Given the description of an element on the screen output the (x, y) to click on. 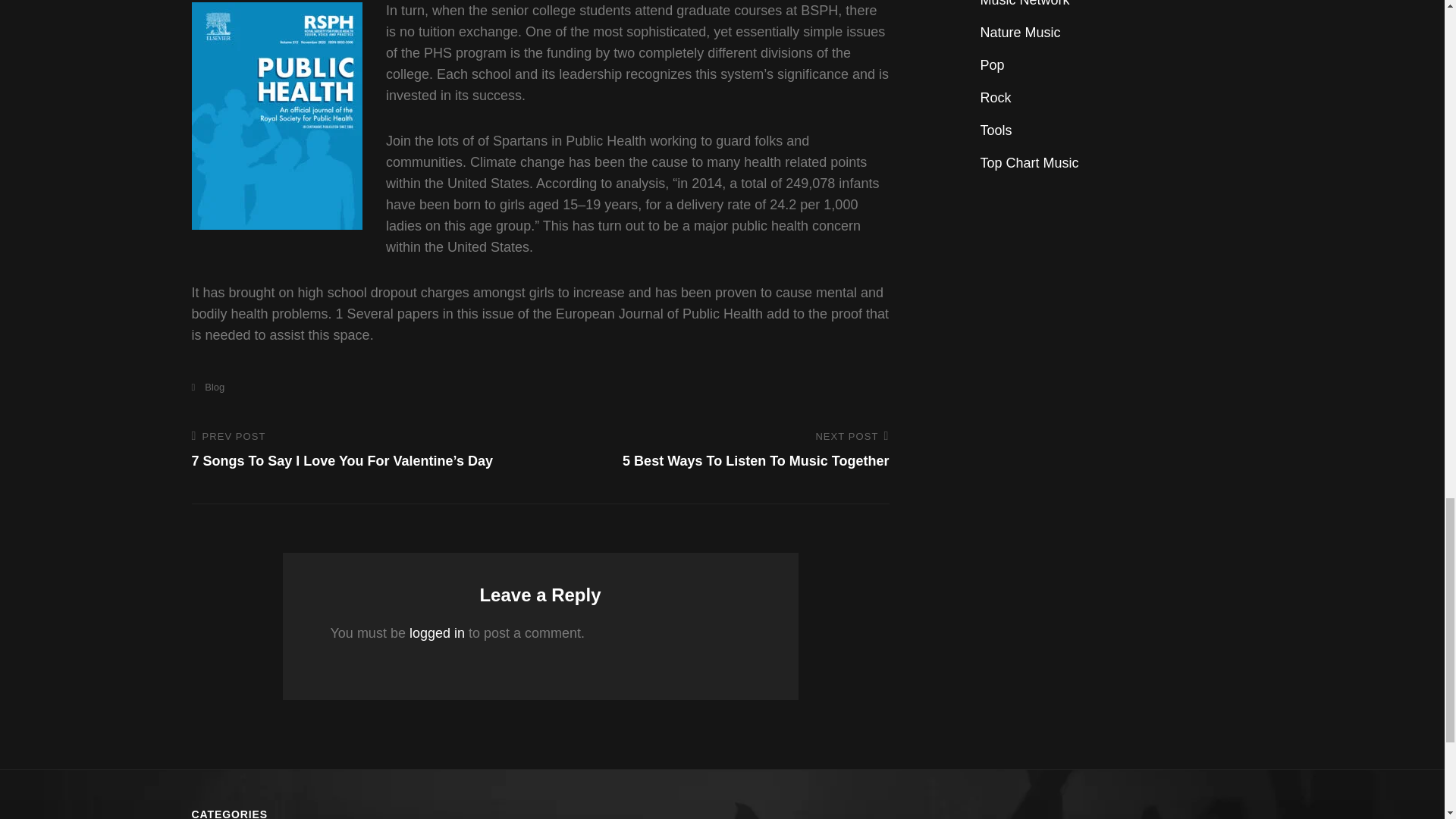
Blog (207, 387)
